Given the description of an element on the screen output the (x, y) to click on. 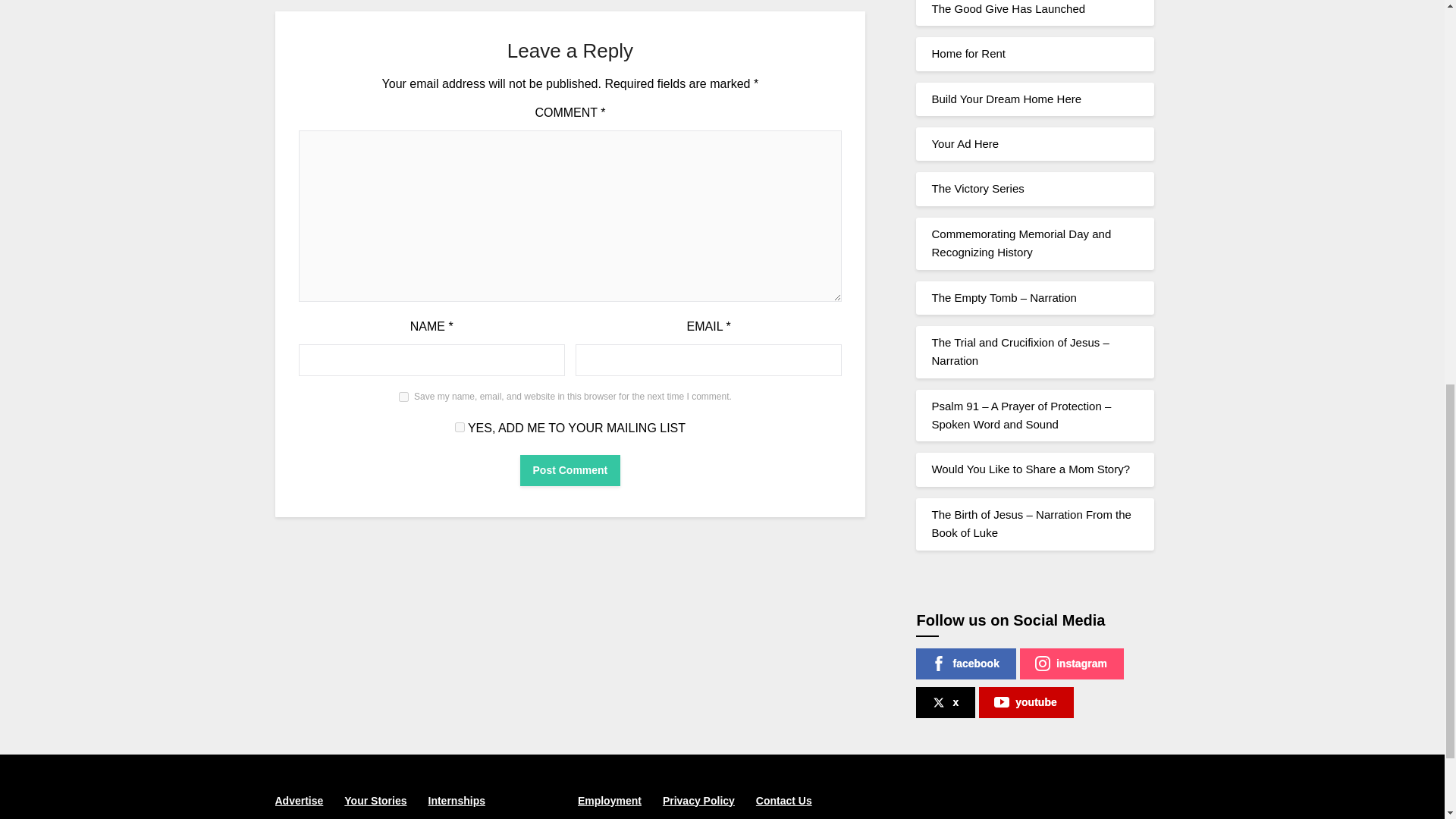
x (945, 702)
Post Comment (570, 470)
Post Comment (570, 470)
The Victory Series (977, 187)
Home for Rent (968, 52)
Commemorating Memorial Day and Recognizing History (1020, 242)
The Good Give Has Launched (1007, 8)
youtube (1025, 702)
facebook (964, 663)
Build Your Dream Home Here (1006, 98)
Your Ad Here (964, 143)
instagram (1072, 663)
yes (403, 397)
1 (459, 427)
Would You Like to Share a Mom Story? (1030, 468)
